Given the description of an element on the screen output the (x, y) to click on. 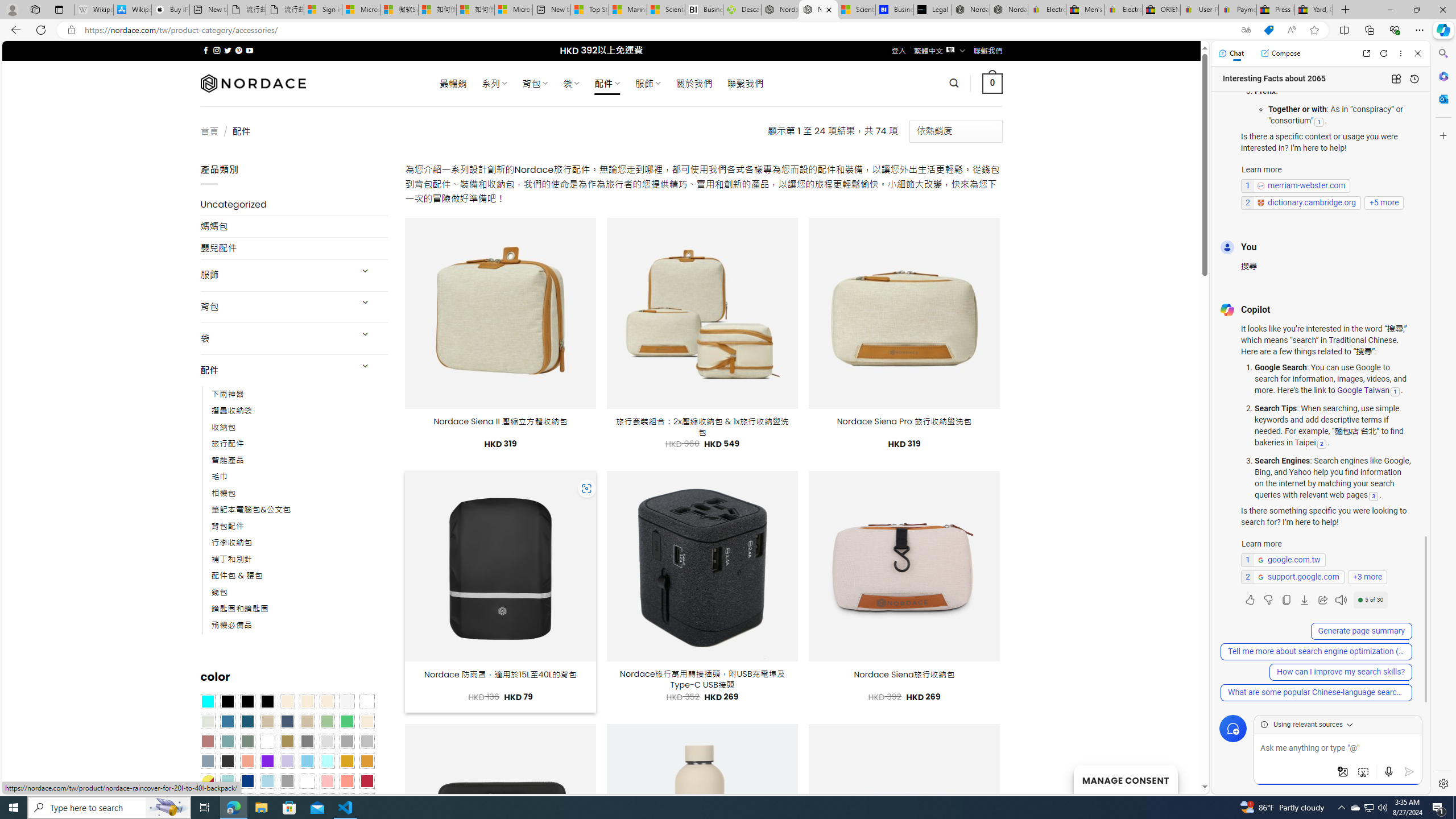
Show translate options (1245, 29)
Wikipedia - Sleeping (93, 9)
Microsoft Services Agreement (360, 9)
Uncategorized (294, 204)
